Given the description of an element on the screen output the (x, y) to click on. 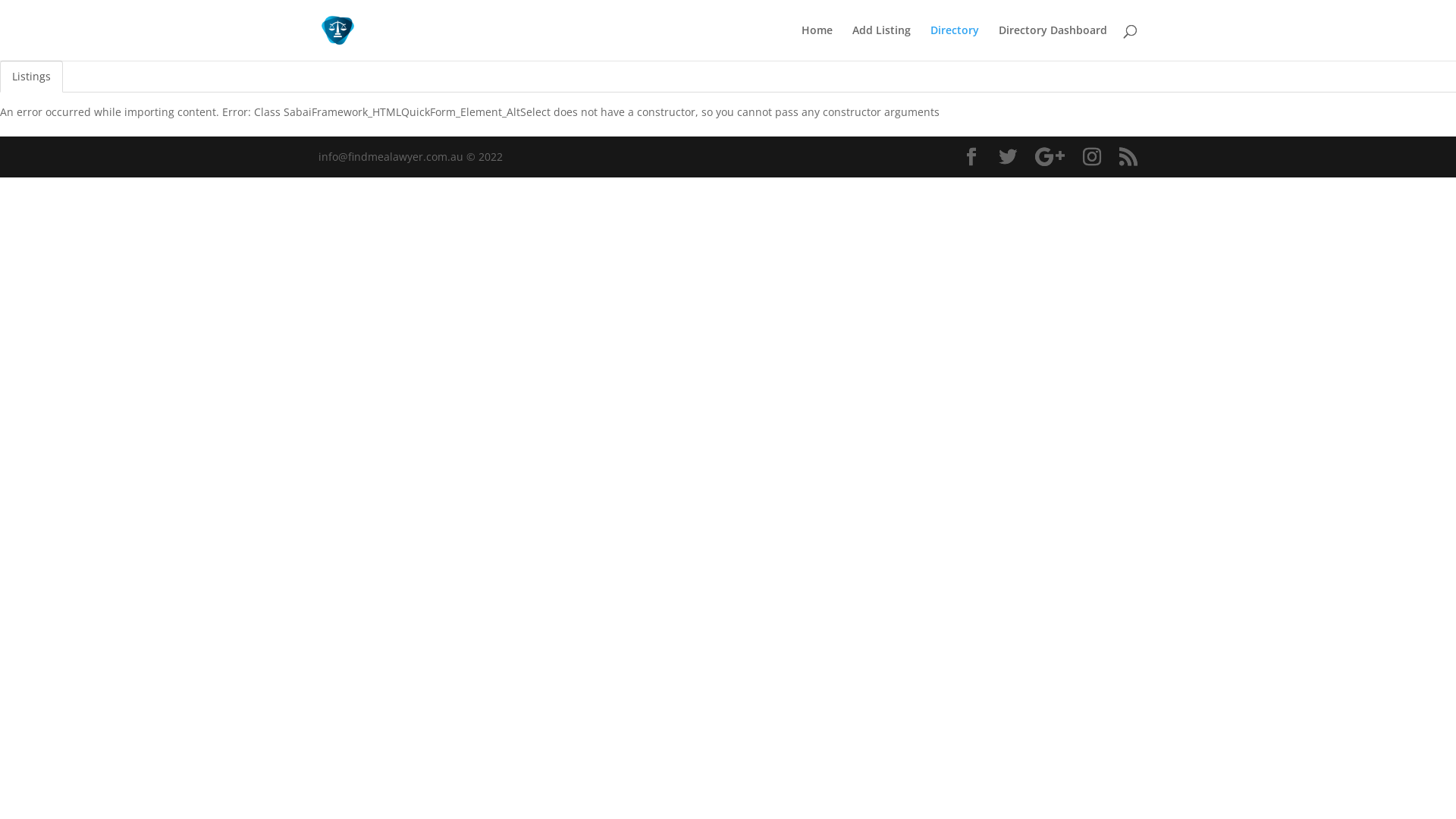
Home Element type: text (816, 42)
Directory Element type: text (954, 42)
Listings Element type: text (31, 76)
Directory Dashboard Element type: text (1052, 42)
Add Listing Element type: text (881, 42)
